Given the description of an element on the screen output the (x, y) to click on. 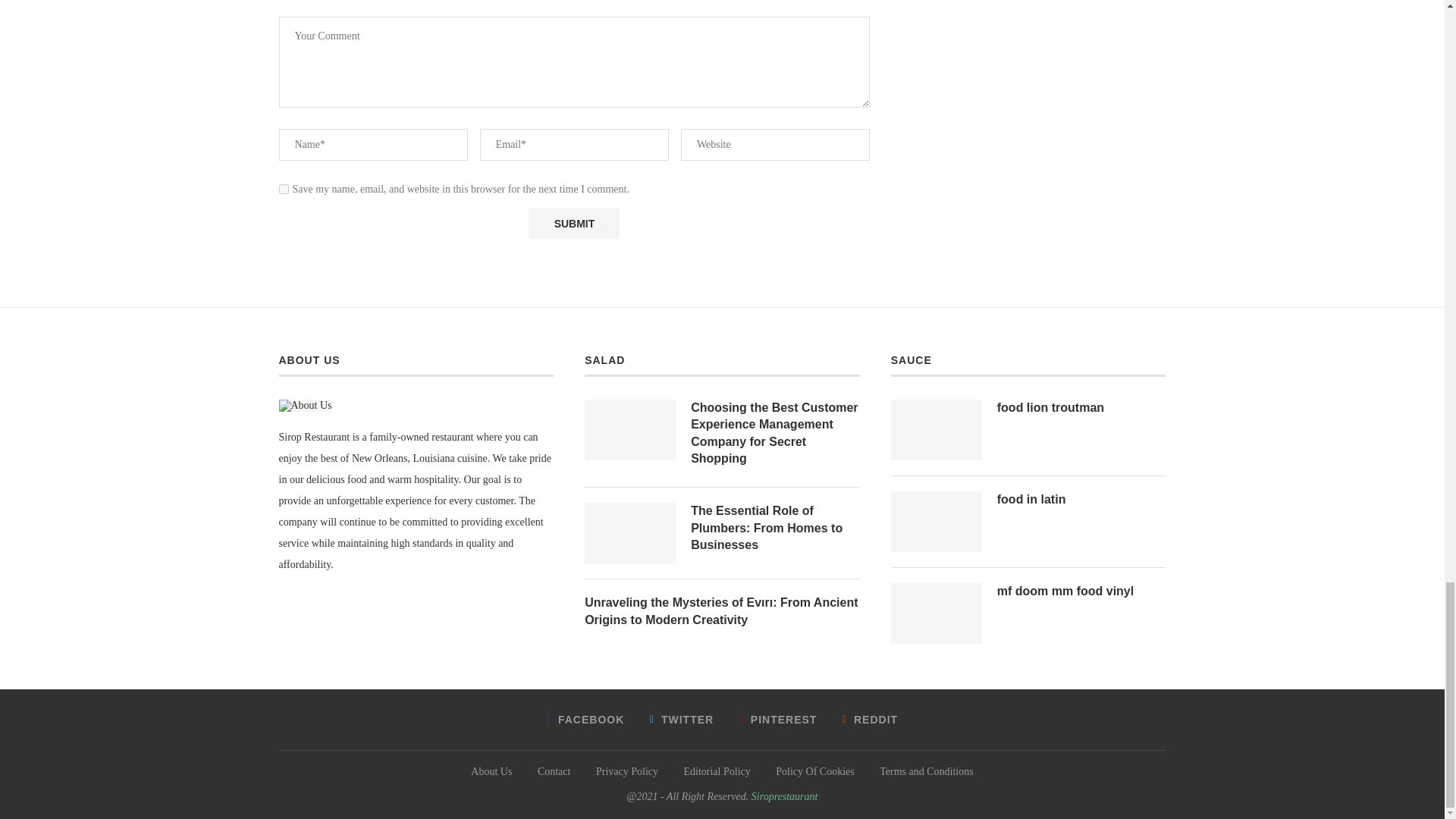
yes (283, 189)
Submit (574, 223)
